Given the description of an element on the screen output the (x, y) to click on. 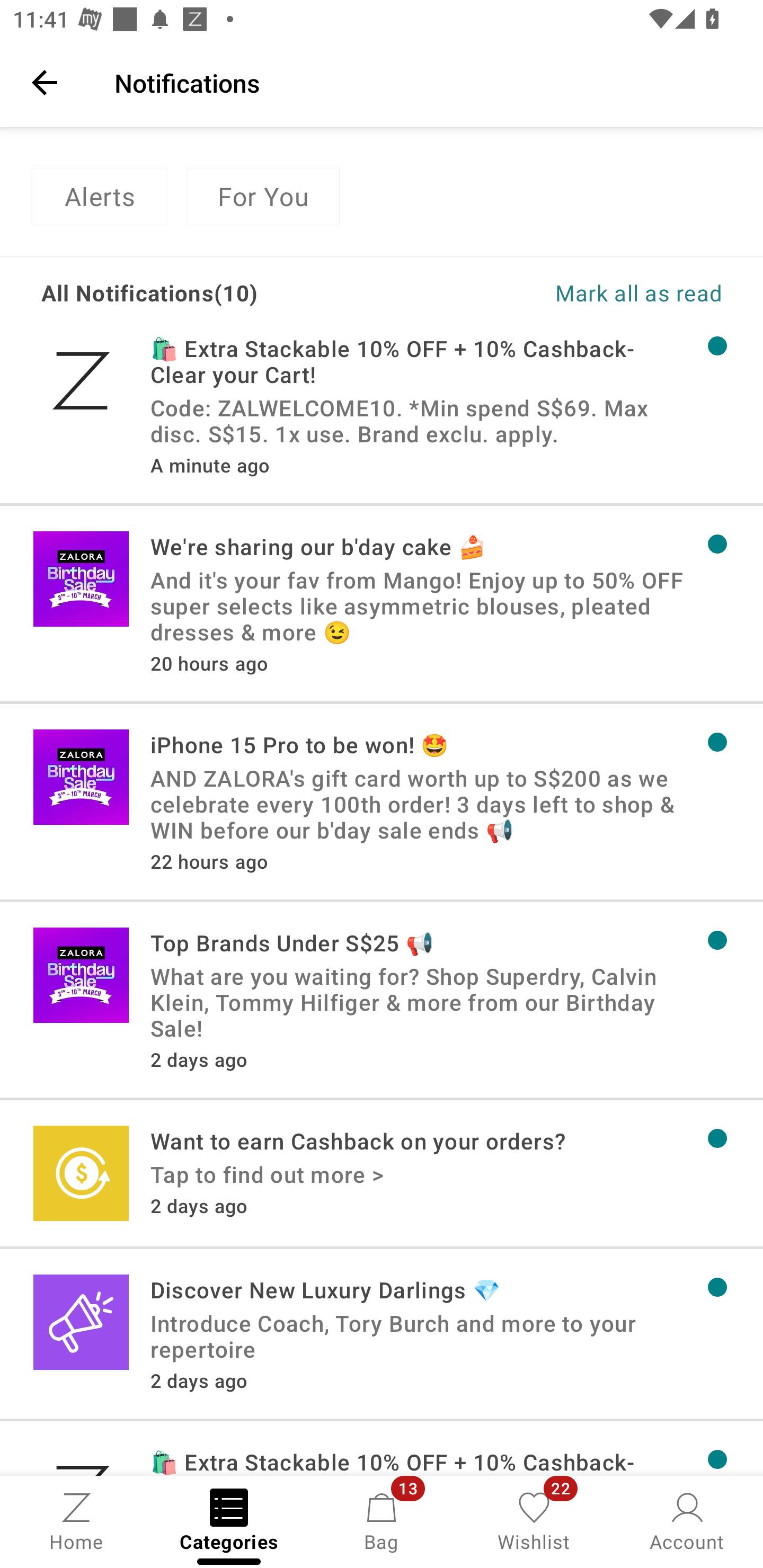
Navigate up (44, 82)
Notifications (426, 82)
Alerts (99, 196)
For You (262, 196)
Mark all as read (551, 292)
Home (76, 1519)
Bag, 13 new notifications Bag (381, 1519)
Wishlist, 22 new notifications Wishlist (533, 1519)
Account (686, 1519)
